Given the description of an element on the screen output the (x, y) to click on. 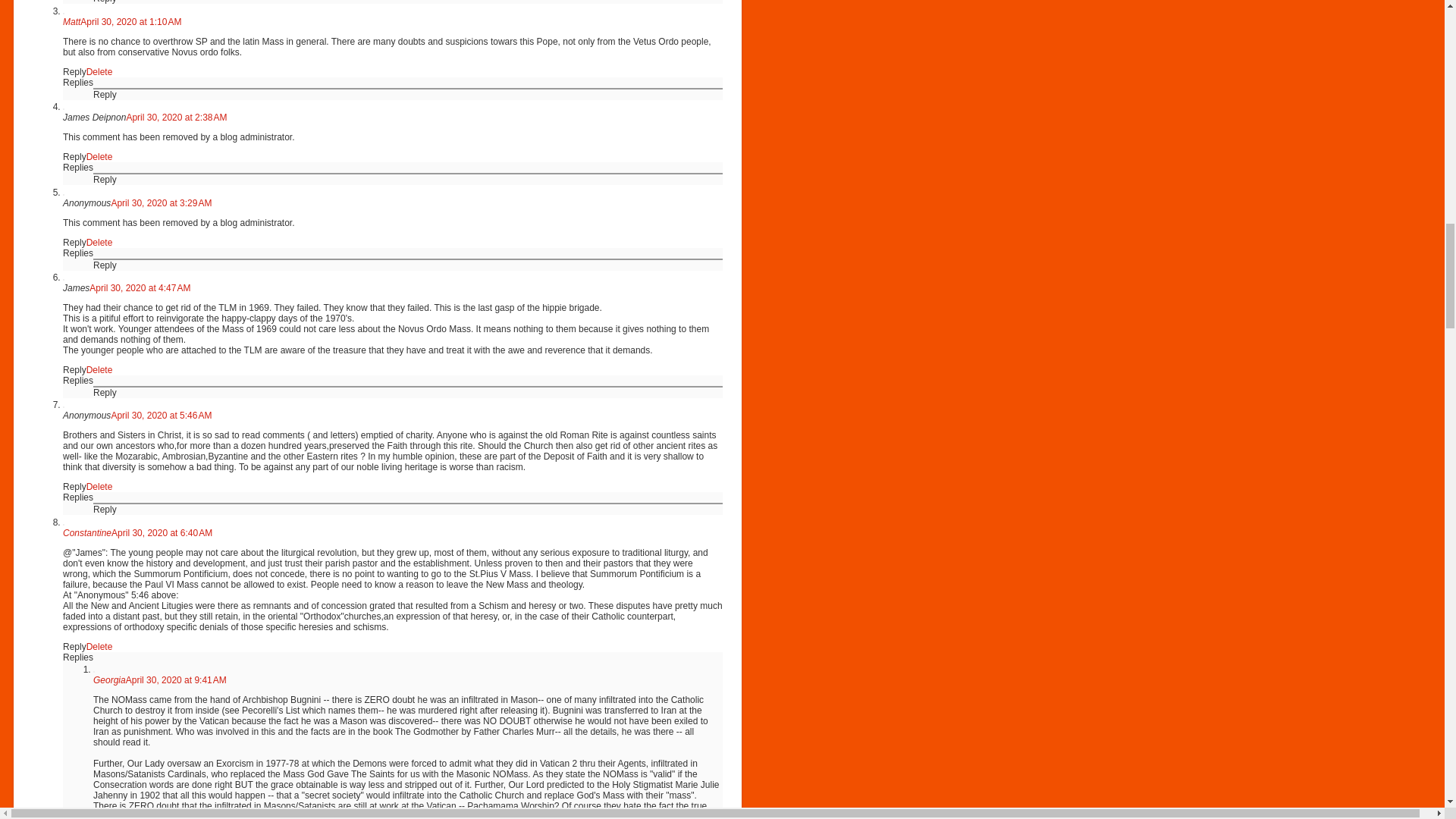
Replies (77, 81)
Matt (71, 21)
Reply (73, 71)
Delete (99, 156)
Replies (77, 253)
Reply (104, 179)
Reply (104, 265)
Delete (99, 369)
Reply (73, 156)
Reply (104, 2)
Delete (99, 242)
Reply (73, 242)
